Given the description of an element on the screen output the (x, y) to click on. 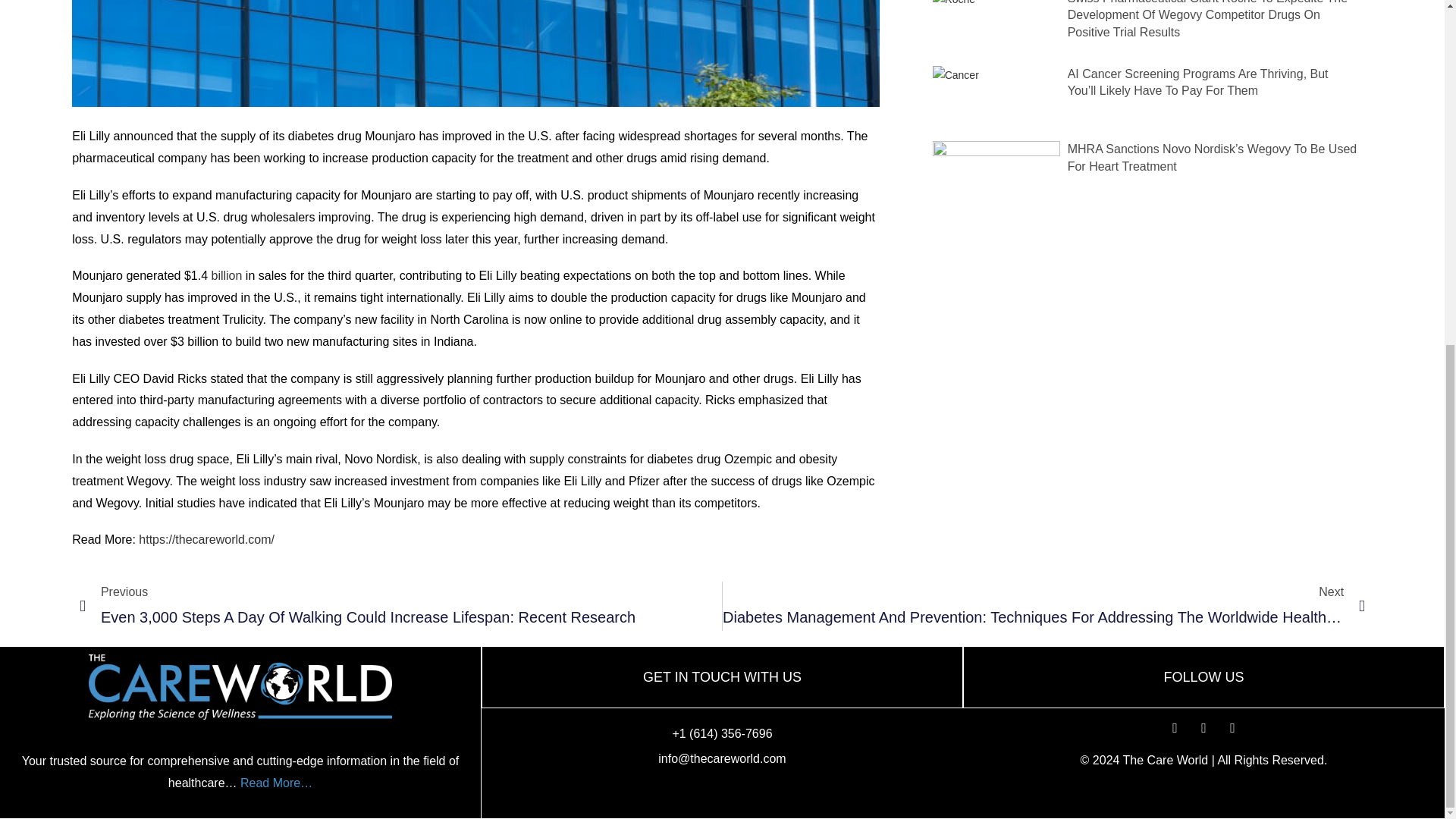
billion (226, 275)
